Given the description of an element on the screen output the (x, y) to click on. 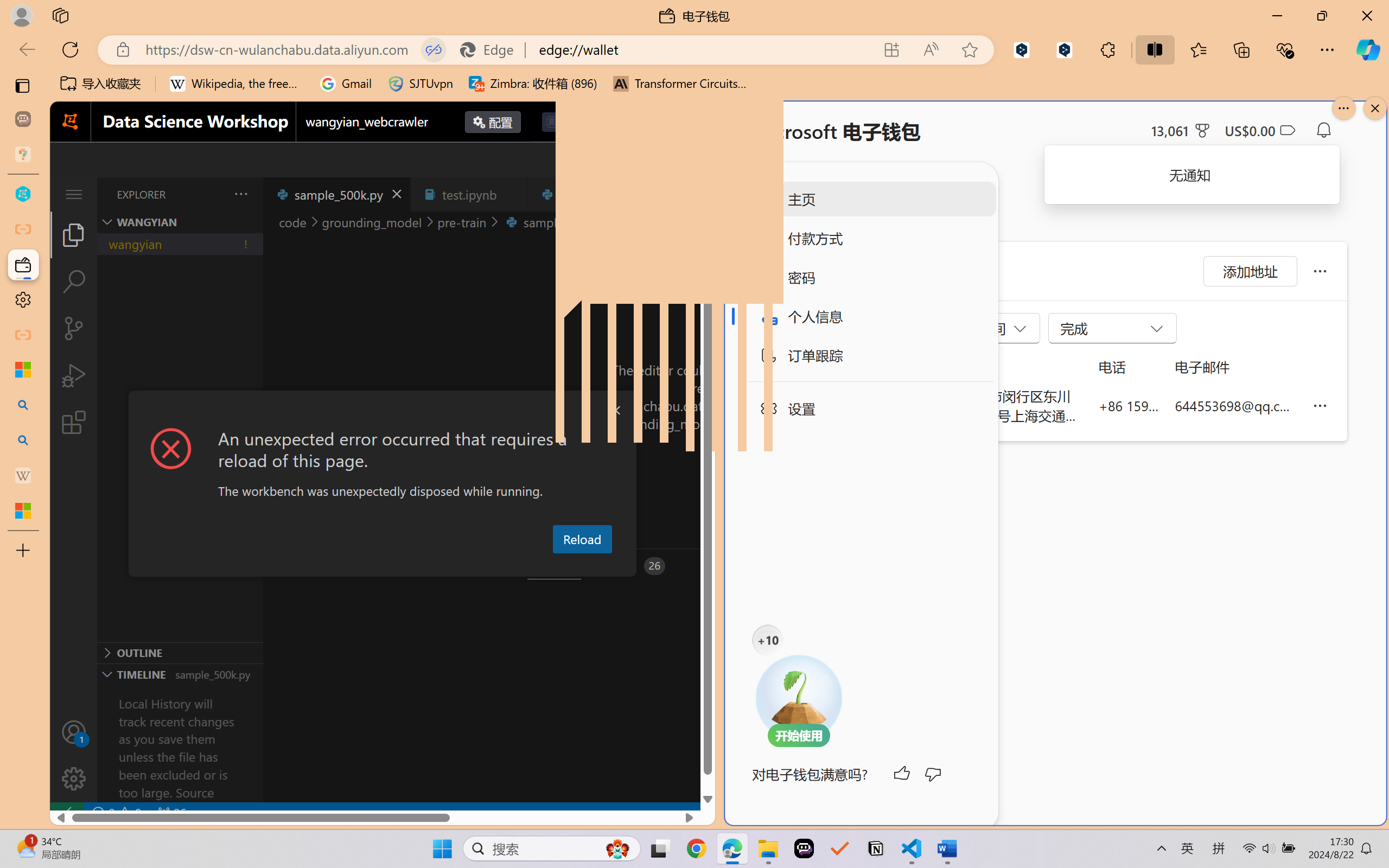
Go Back (Alt+LeftArrow) (573, 159)
Source Control (Ctrl+Shift+G) (73, 328)
Accounts - Sign in requested (73, 732)
Terminal (Ctrl+`) (553, 565)
Tab actions (644, 194)
Output (Ctrl+Shift+U) (377, 565)
Transformer Circuits Thread (680, 83)
Wikipedia, the free encyclopedia (236, 83)
Search (Ctrl+Shift+F) (73, 281)
